Given the description of an element on the screen output the (x, y) to click on. 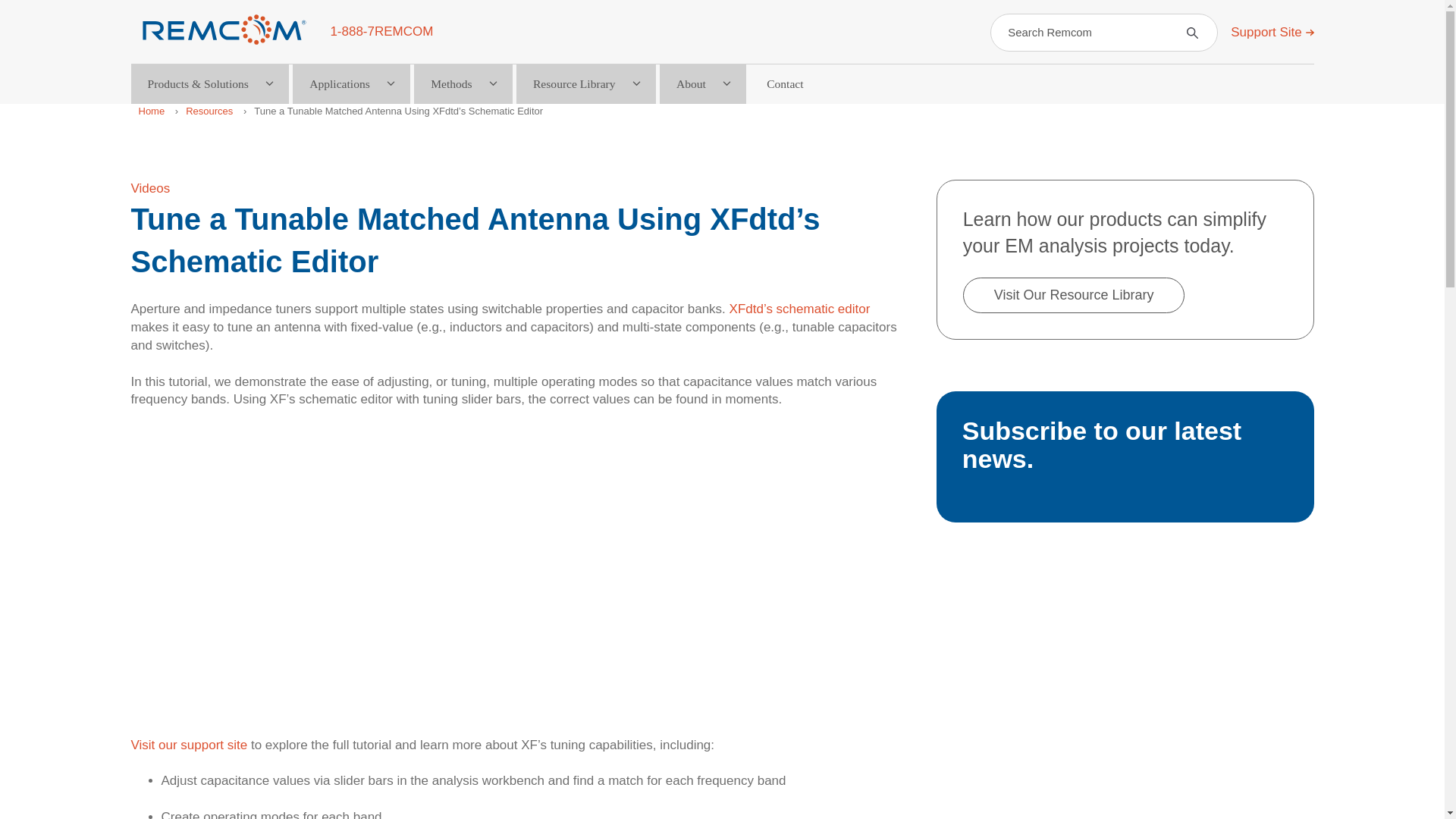
Remcom (224, 29)
YouTube video player (520, 563)
1-888-7REMCOM (381, 31)
Support Site (1271, 32)
